Given the description of an element on the screen output the (x, y) to click on. 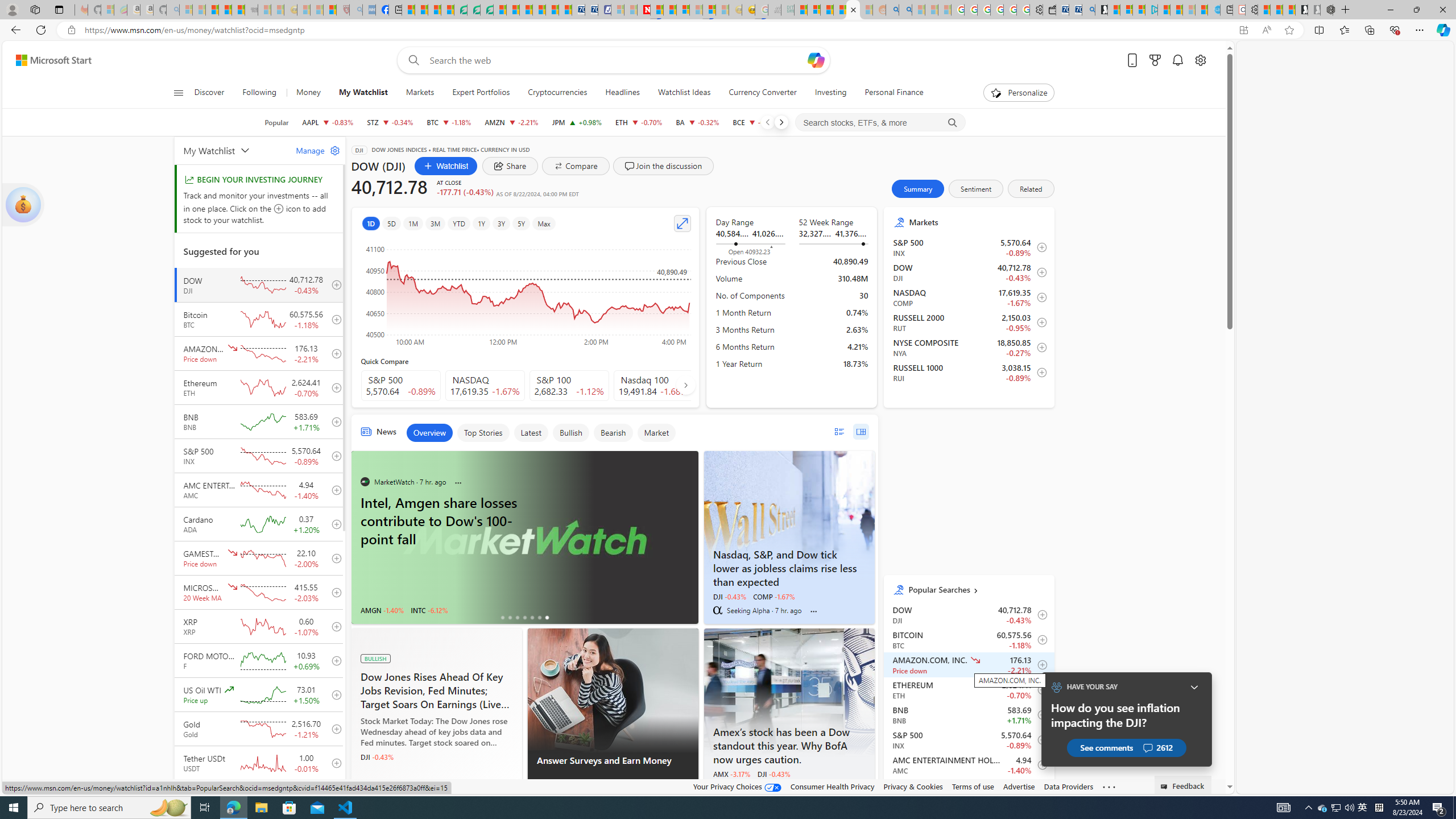
3Y (501, 223)
Related (1030, 188)
MarketWatch (716, 786)
ETH Ethereum decrease 2,624.41 -18.32 -0.70% itemundefined (968, 689)
share dialog (509, 166)
Money (308, 92)
